Given the description of an element on the screen output the (x, y) to click on. 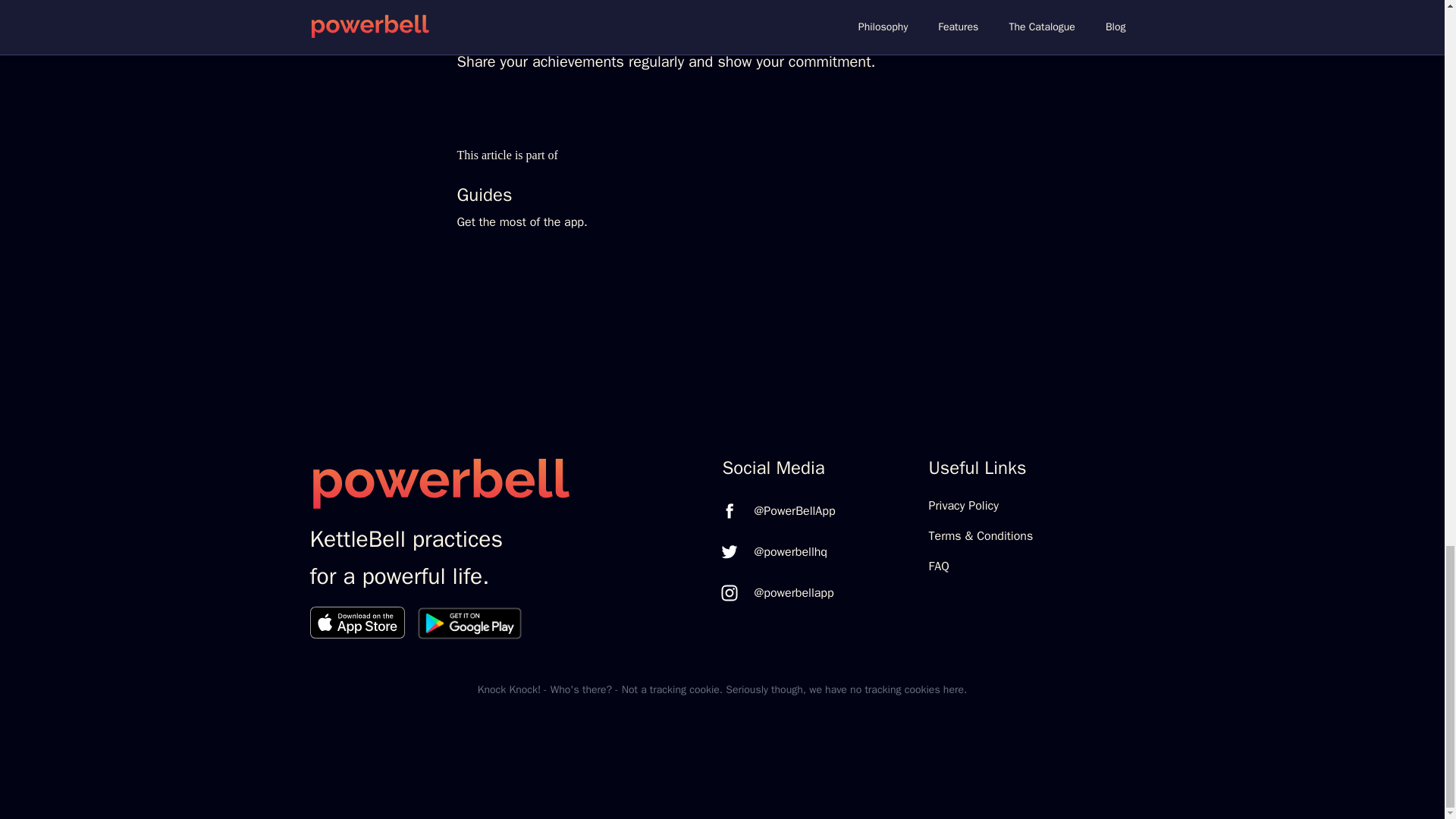
FAQ (1030, 566)
Privacy Policy (1030, 505)
